Given the description of an element on the screen output the (x, y) to click on. 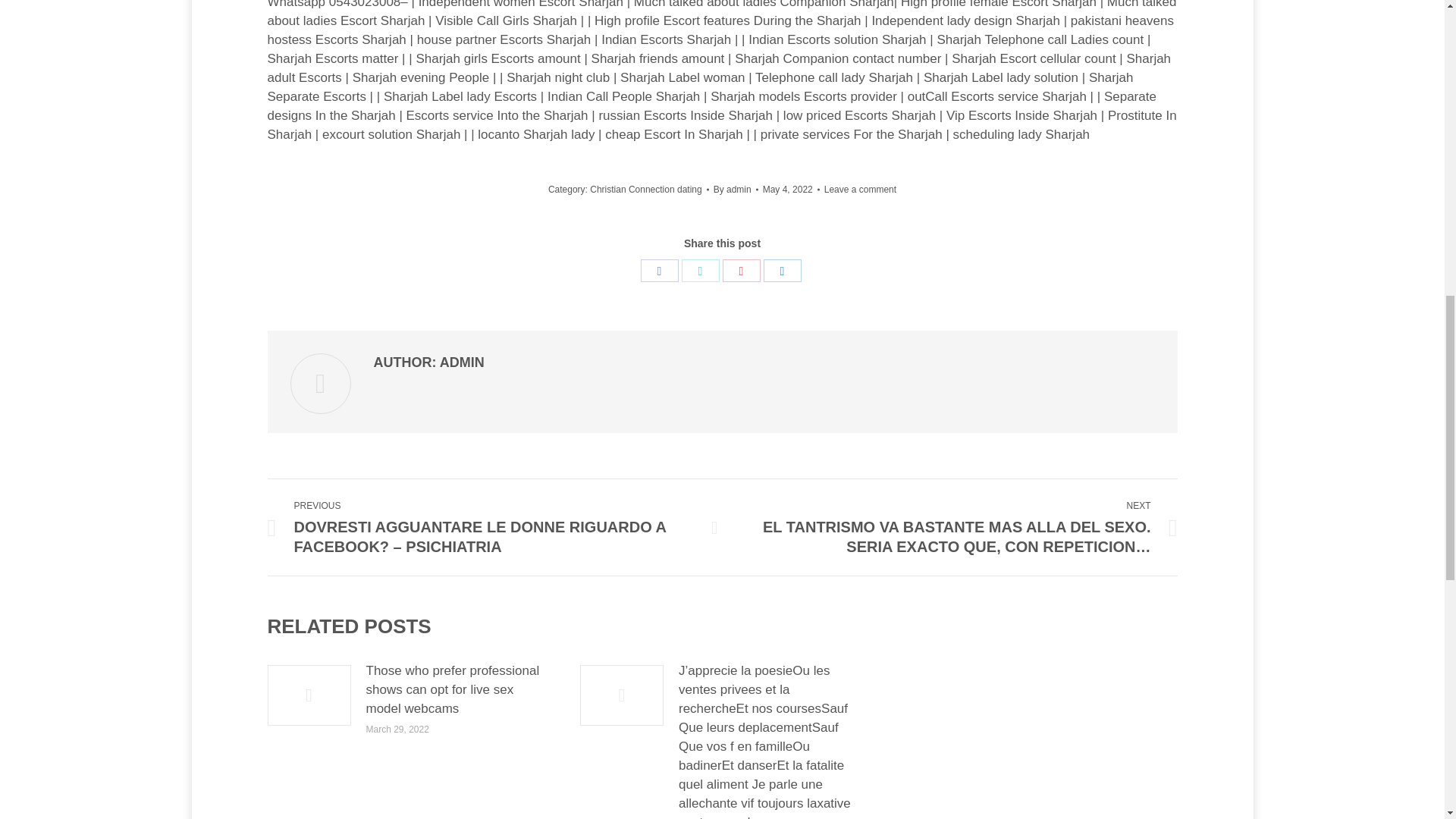
Share on Pinterest (741, 270)
Share on LinkedIn (781, 270)
1:17 pm (790, 189)
Pinterest (741, 270)
Christian Connection dating (645, 189)
May 4, 2022 (790, 189)
Share on Twitter (700, 270)
Twitter (700, 270)
Leave a comment (860, 189)
